Given the description of an element on the screen output the (x, y) to click on. 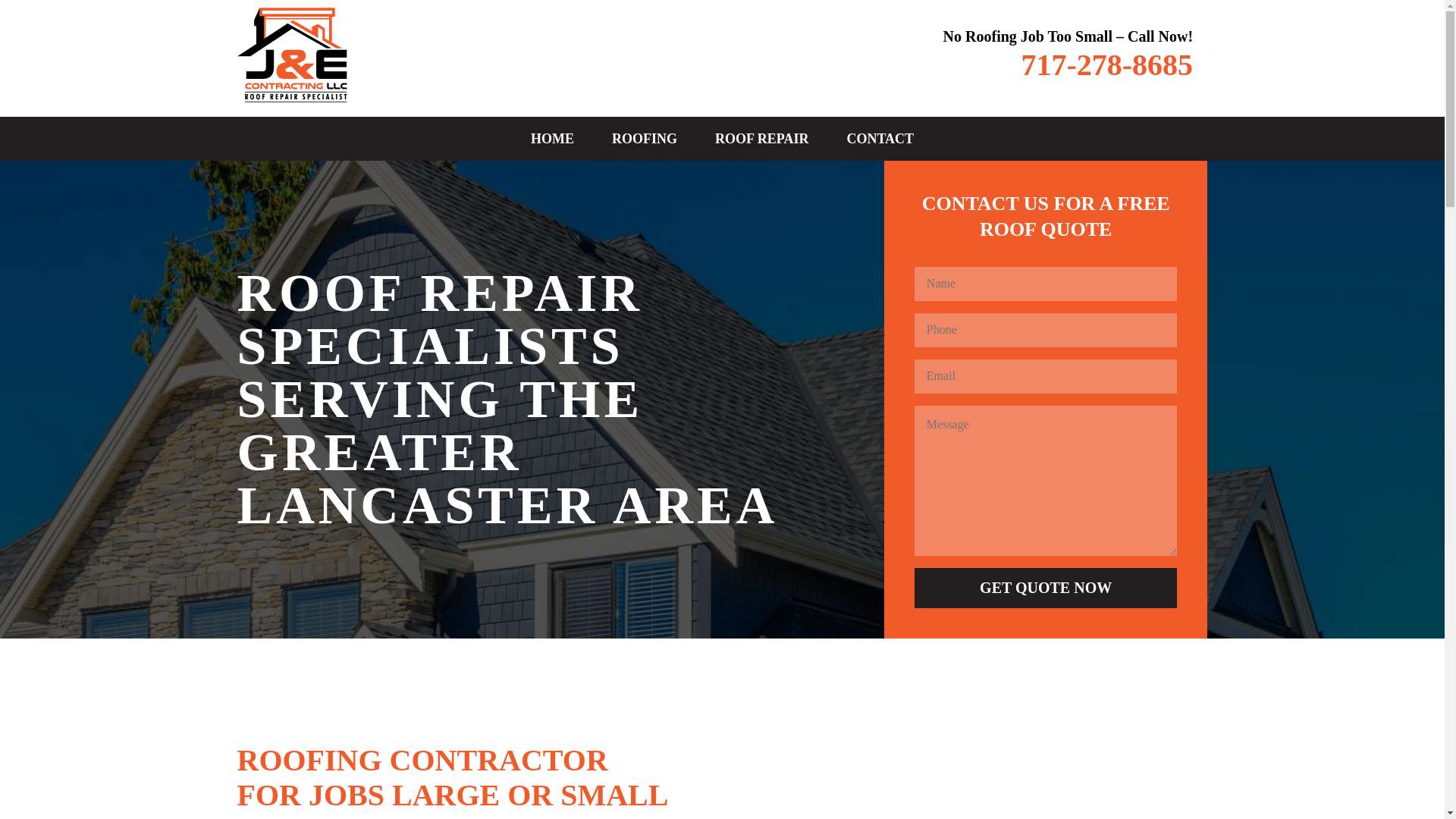
ROOF REPAIR (761, 138)
CONTACT (879, 138)
717-278-8685 (1106, 64)
HOME (552, 138)
Get Quote Now (1045, 588)
ROOFING (644, 138)
Get Quote Now (1045, 588)
